Given the description of an element on the screen output the (x, y) to click on. 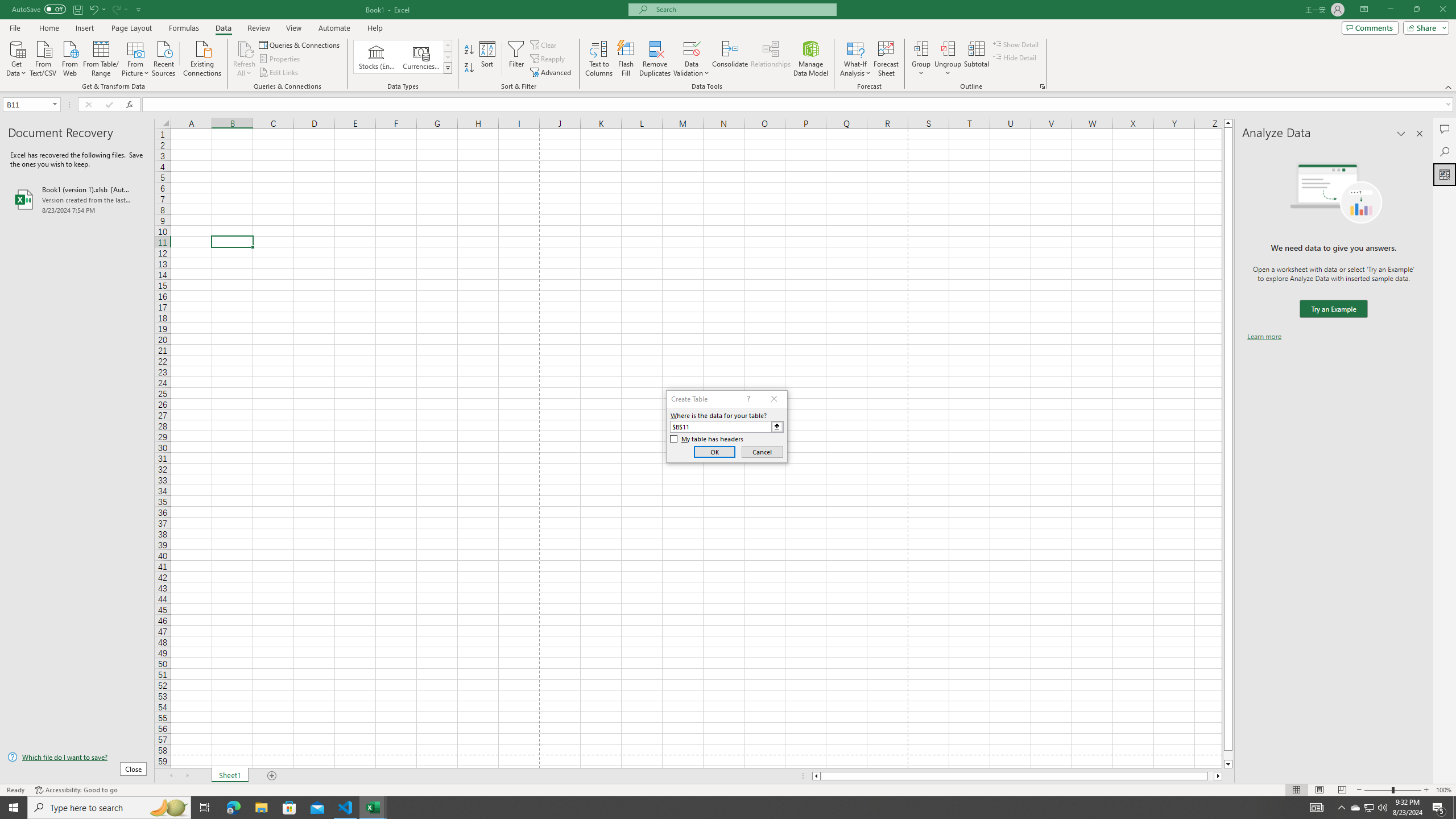
Queries & Connections (300, 44)
Manage Data Model (810, 58)
Class: NetUIImage (447, 68)
What-If Analysis (855, 58)
Reapply (548, 58)
Analyze Data (1444, 173)
